Given the description of an element on the screen output the (x, y) to click on. 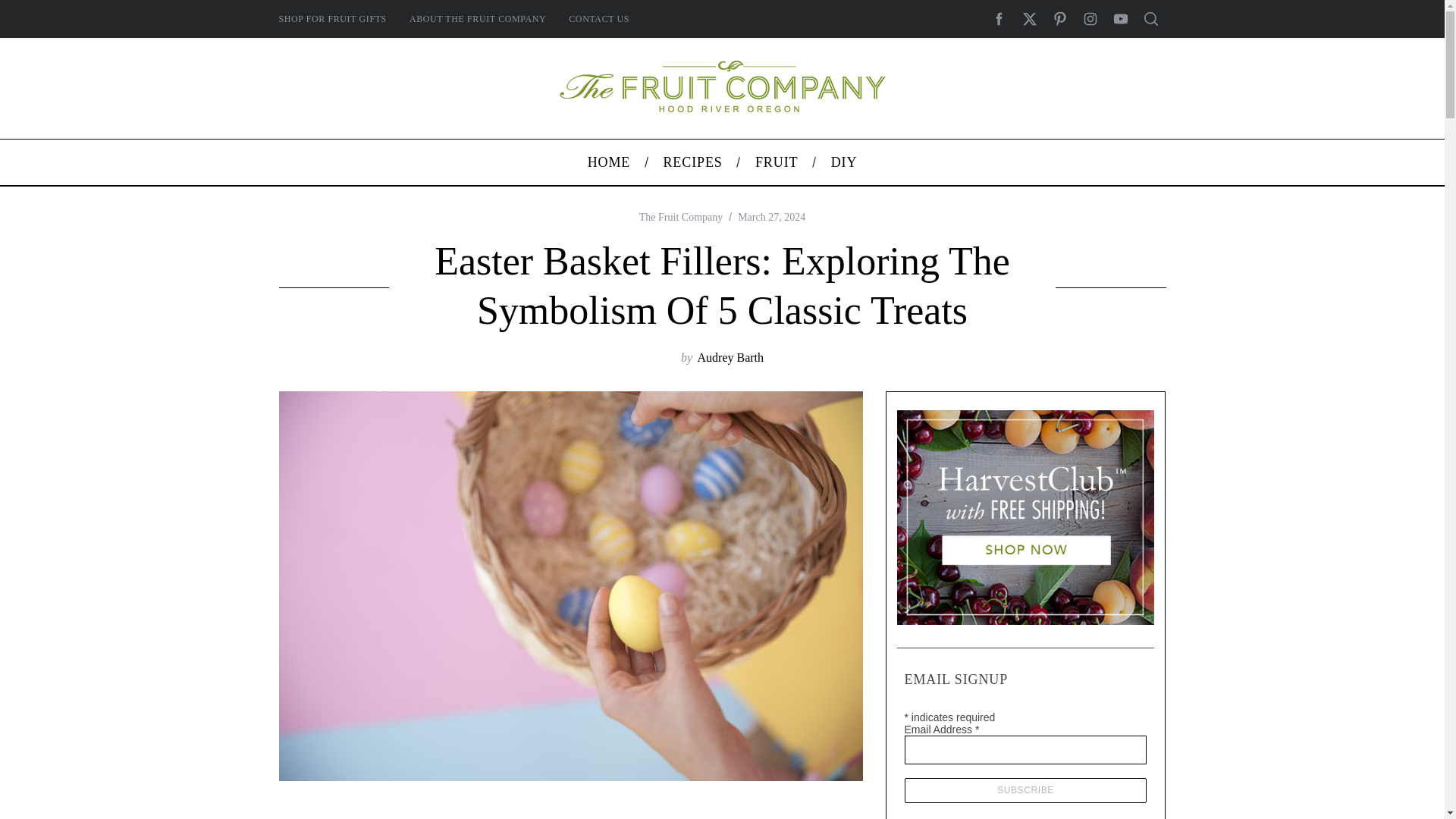
CONTACT US (598, 18)
FRUIT (775, 162)
DIY (843, 162)
HOME (608, 162)
SHOP FOR FRUIT GIFTS (331, 18)
ABOUT THE FRUIT COMPANY (477, 18)
RECIPES (692, 162)
Subscribe (1025, 790)
